Given the description of an element on the screen output the (x, y) to click on. 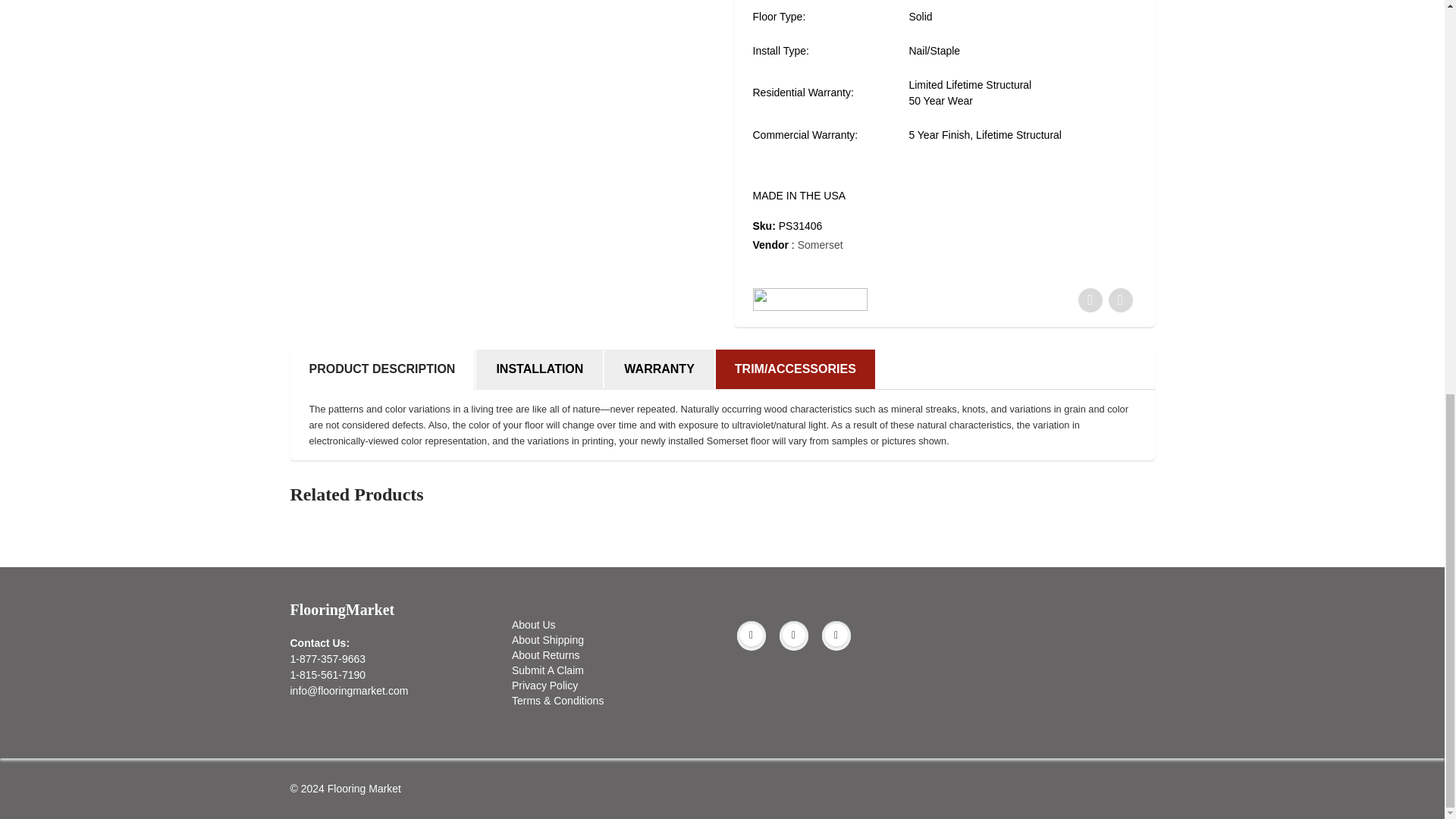
Somerset (820, 244)
Instagram (836, 635)
Pinterest (794, 635)
Facebook (750, 635)
